Given the description of an element on the screen output the (x, y) to click on. 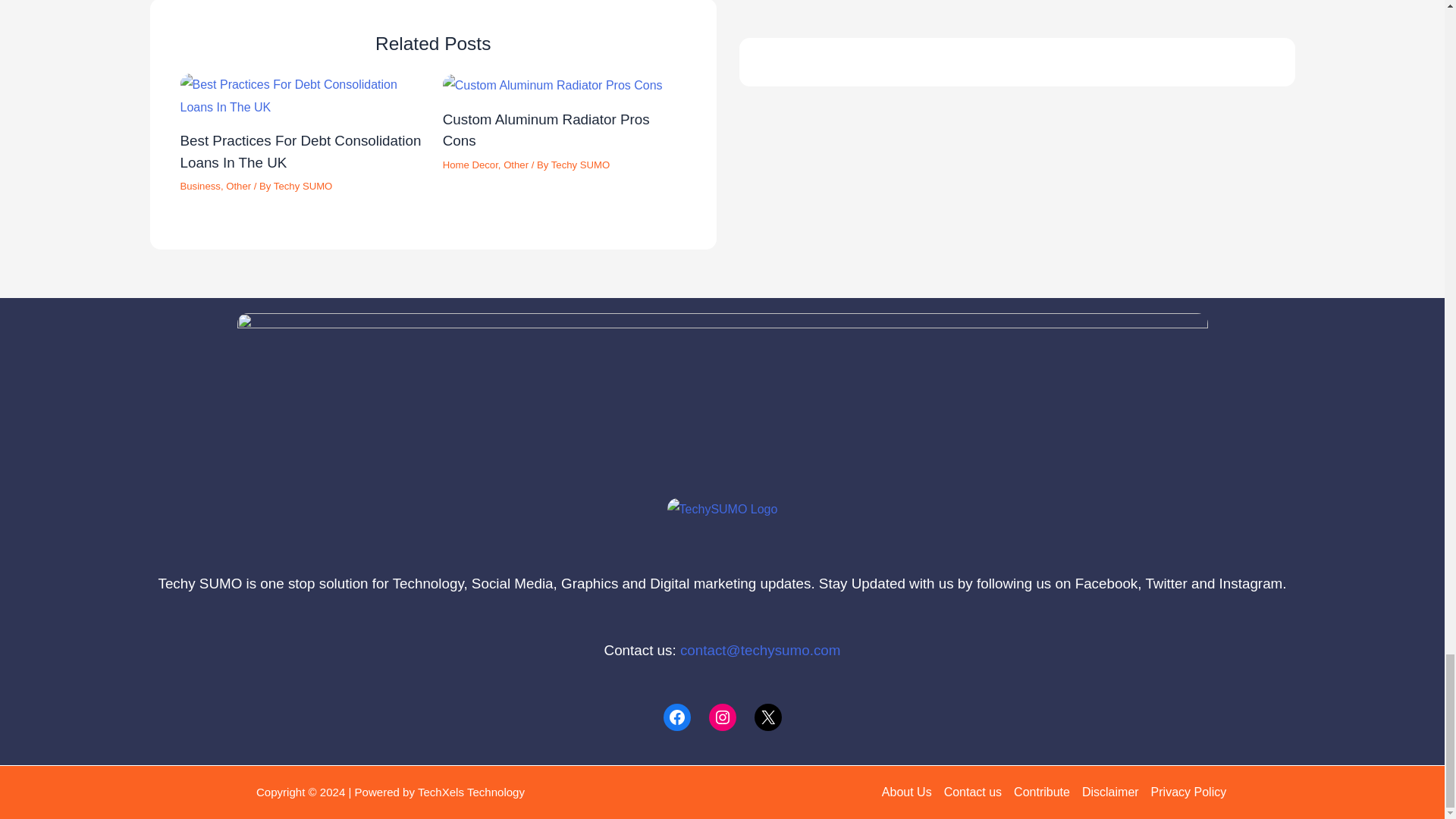
View all posts by Techy SUMO (303, 185)
